Given the description of an element on the screen output the (x, y) to click on. 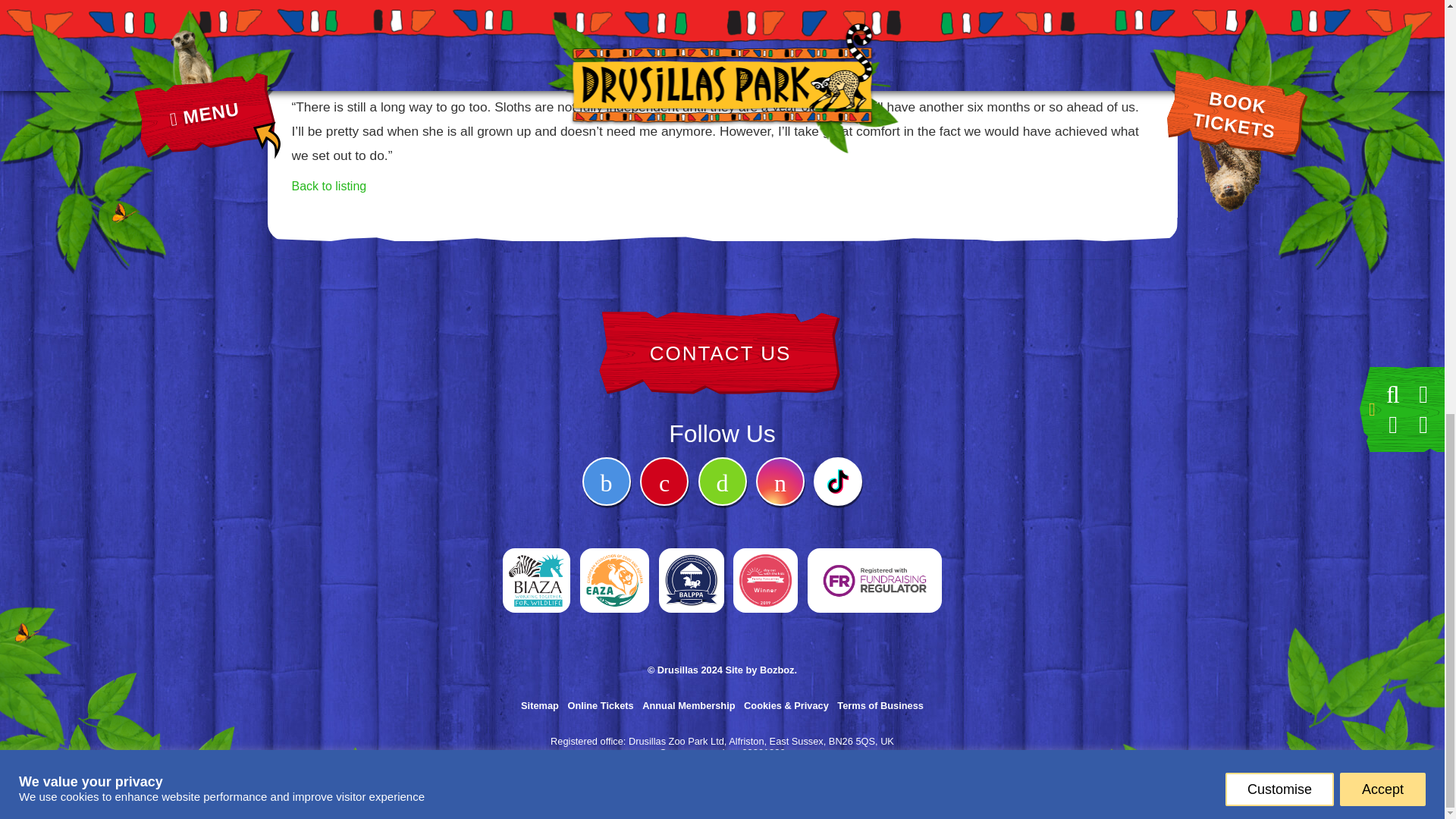
Fundraising Regulator (874, 560)
Family Favourites Awards Winner (765, 560)
